Given the description of an element on the screen output the (x, y) to click on. 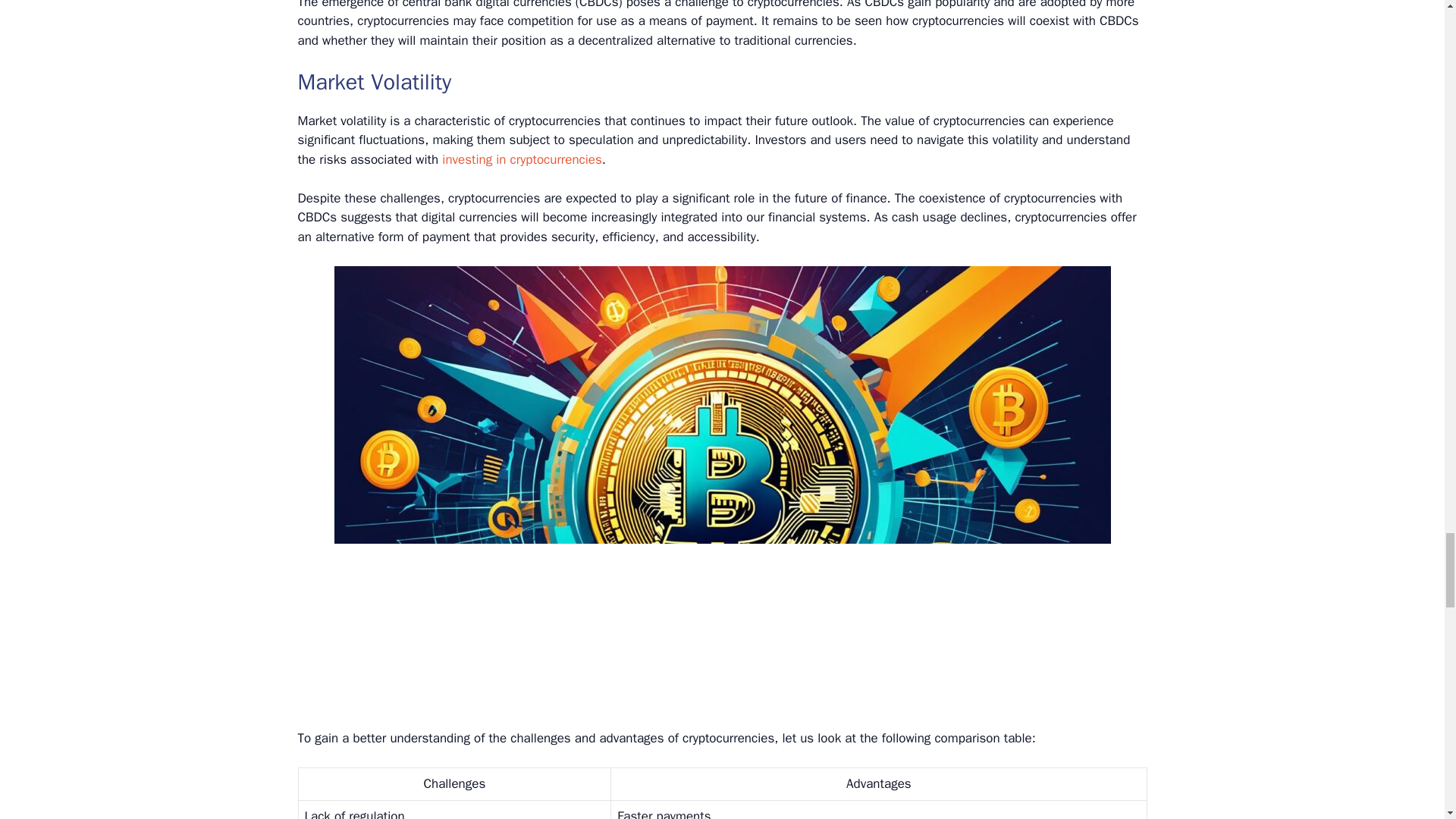
investing in cryptocurrencies (521, 159)
investing in cryptocurrencies (521, 159)
